Given the description of an element on the screen output the (x, y) to click on. 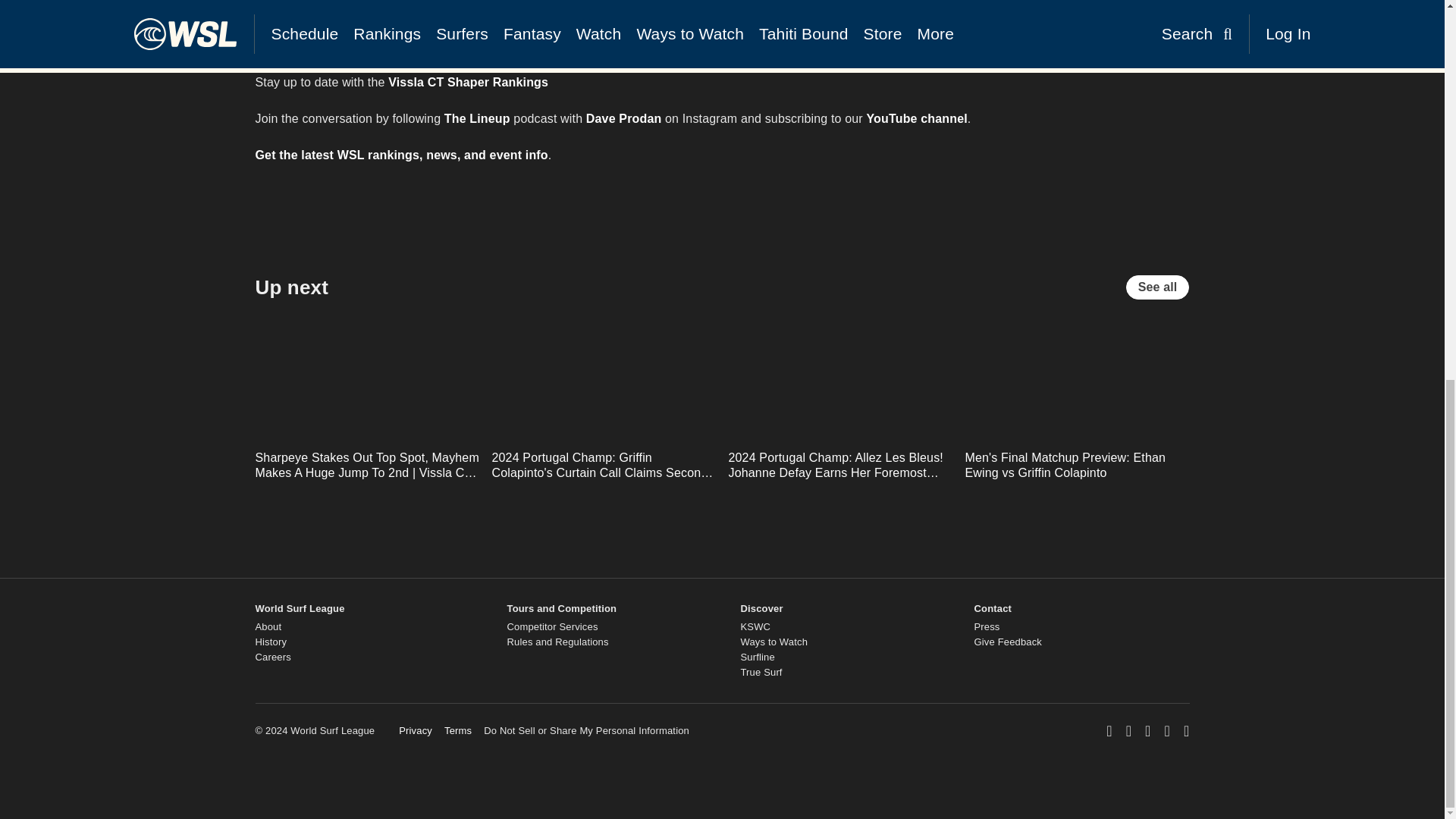
Rip Curl Pro Bells Beach (429, 45)
WSL on YouTube (1167, 730)
WSL on Facebook (1109, 730)
WSL on Instagram (1128, 730)
MEO Rip Curl Pro Portugal Presented by Corona (561, 9)
WSL on Spotify (1186, 730)
WSL on Twitter (1147, 730)
